Given the description of an element on the screen output the (x, y) to click on. 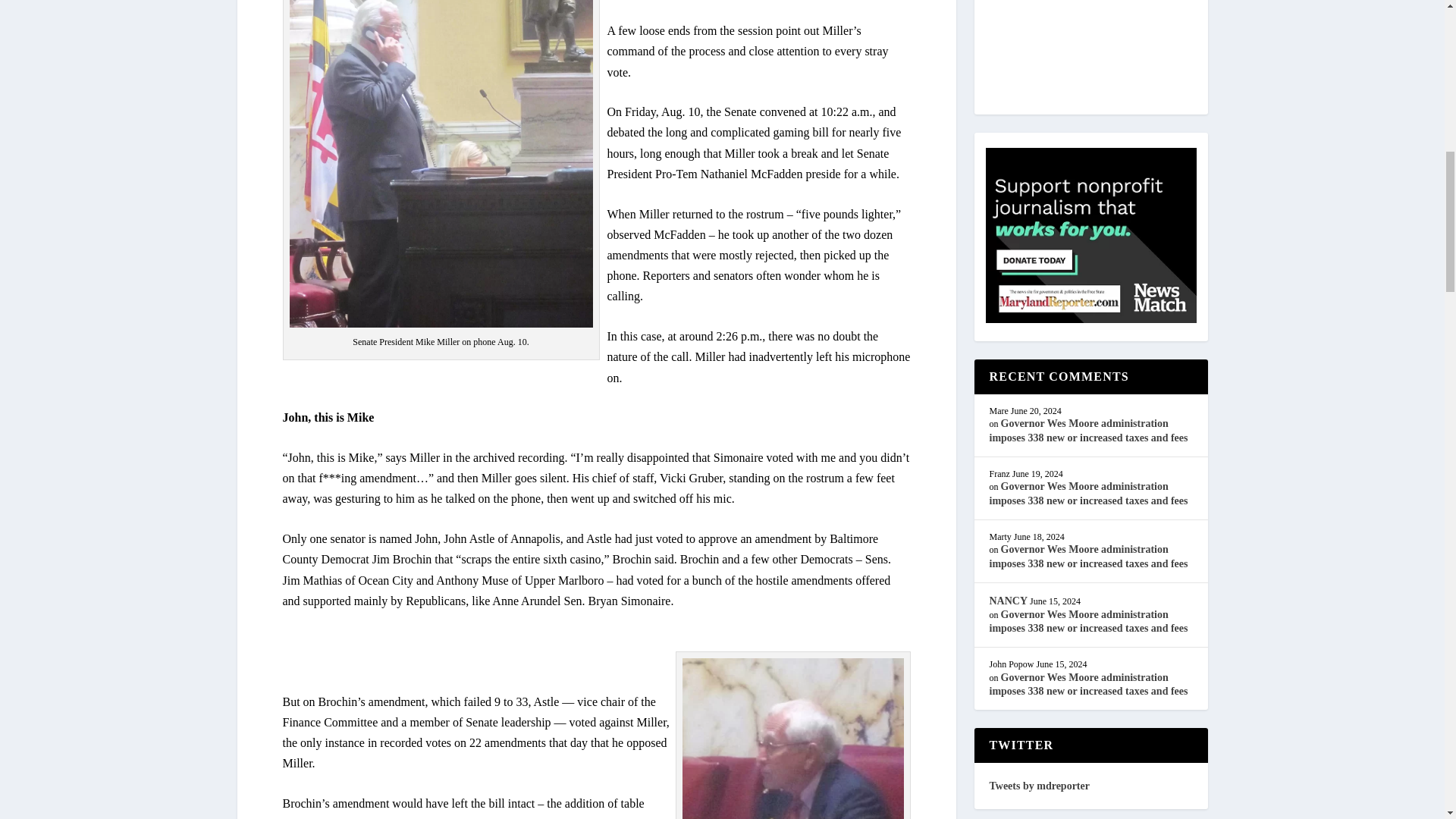
Astle gambling debate (793, 738)
Miller on phone (440, 164)
